Given the description of an element on the screen output the (x, y) to click on. 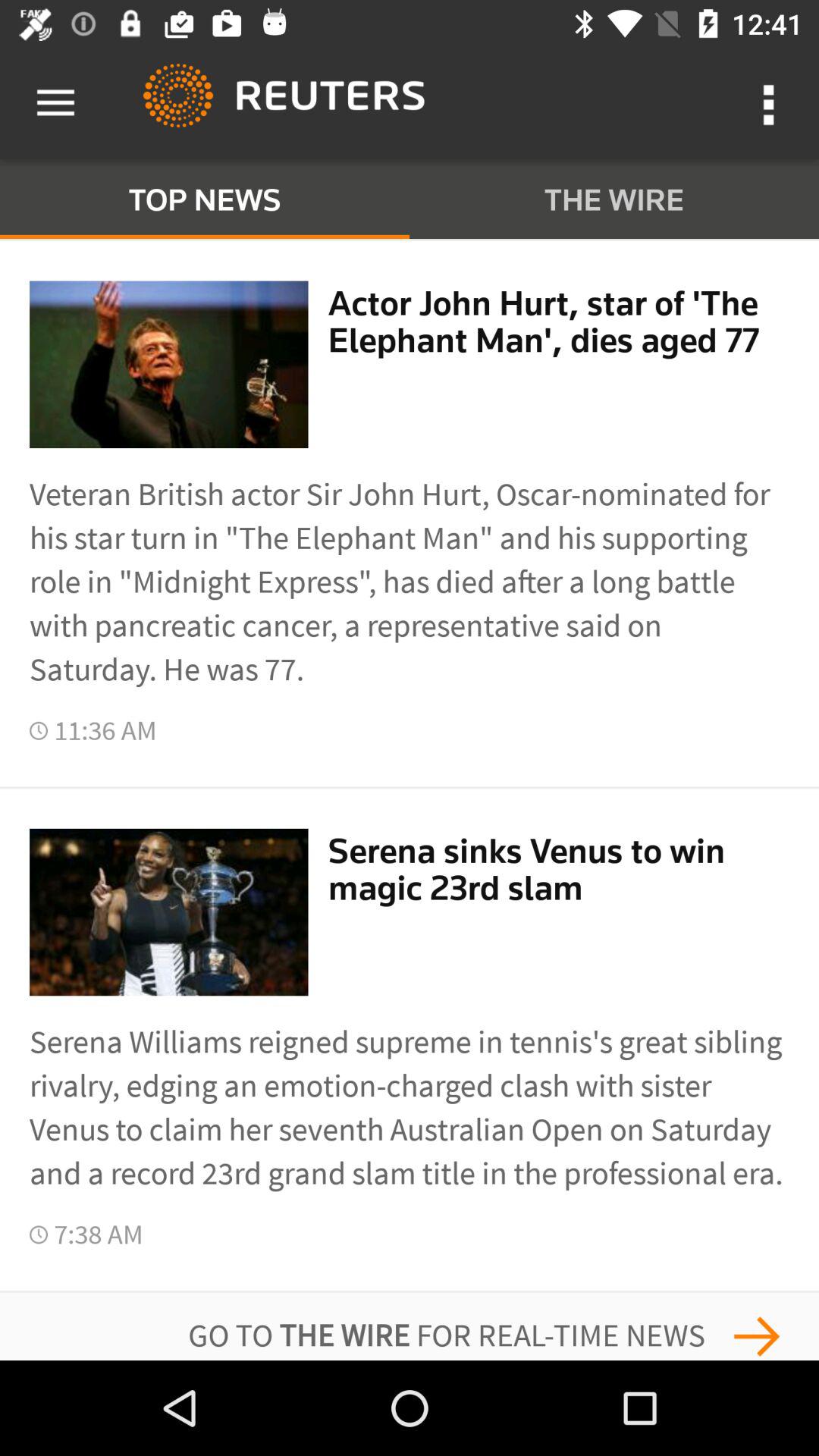
launch item above the the wire icon (771, 103)
